Given the description of an element on the screen output the (x, y) to click on. 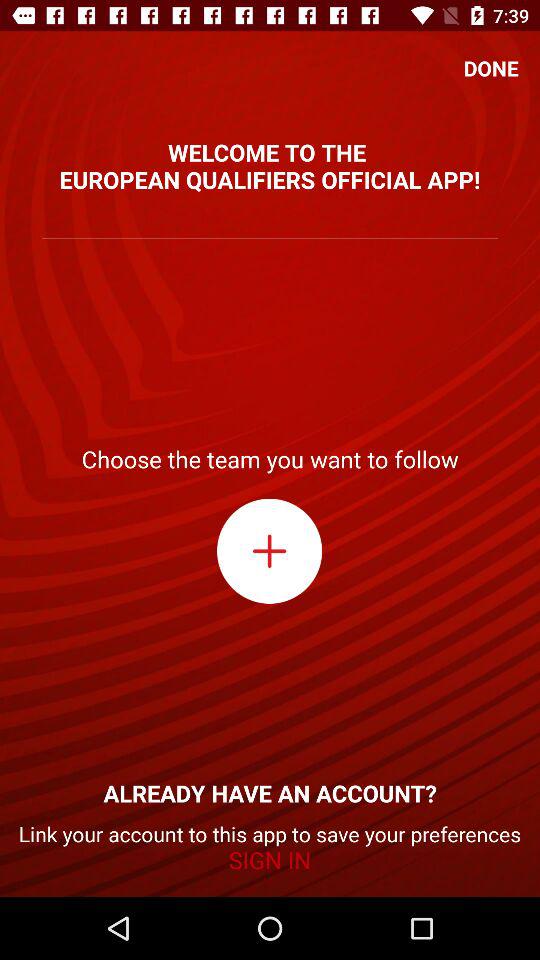
launch icon below already have an item (269, 847)
